Given the description of an element on the screen output the (x, y) to click on. 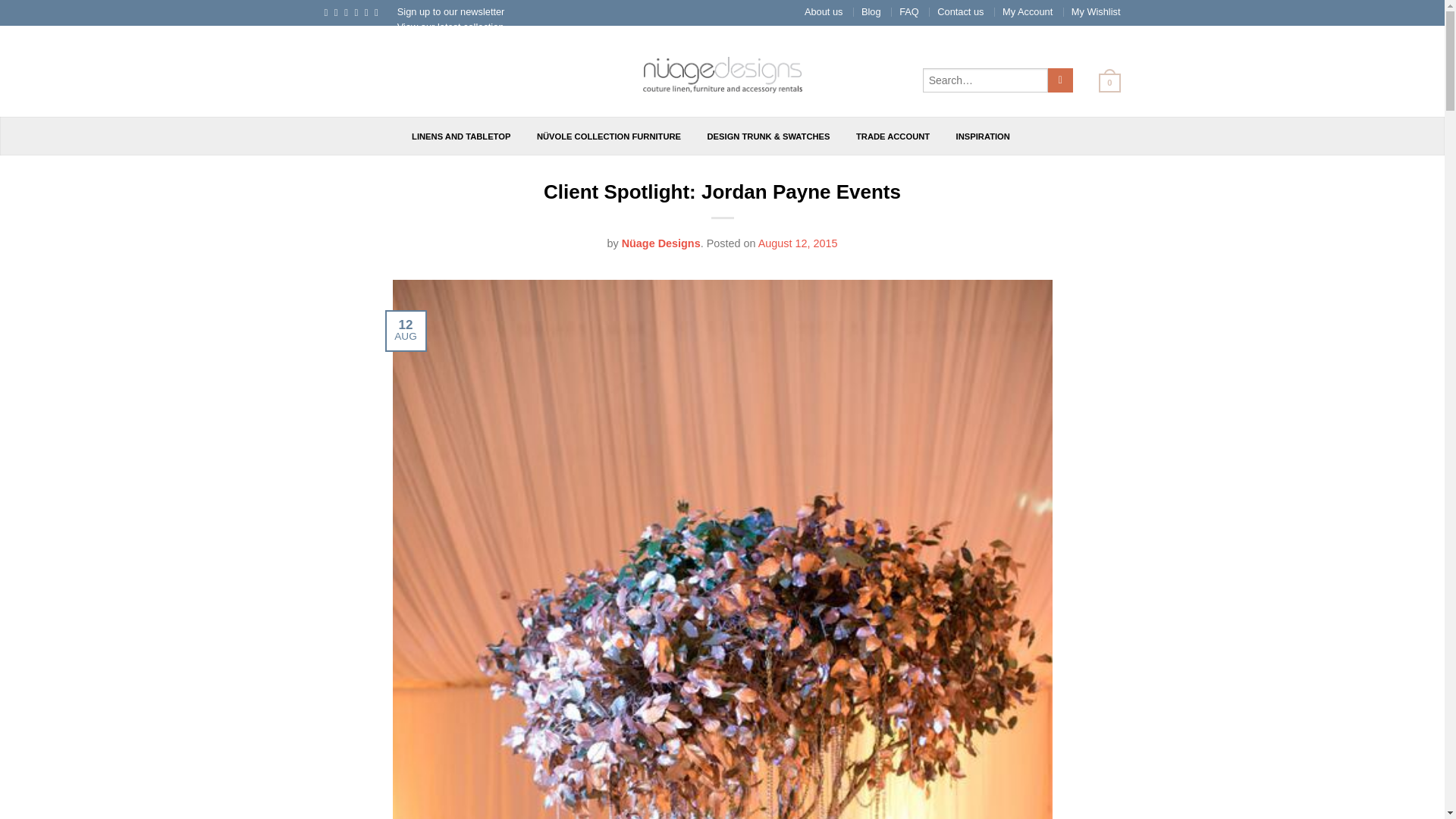
3:31 pm (798, 243)
FAQ (908, 11)
My Account (1027, 11)
Sign up to our newsletter (451, 11)
Blog (870, 11)
0 (1103, 81)
LINENS AND TABLETOP (461, 135)
Contact us (960, 11)
About us (824, 11)
My Wishlist (1096, 11)
